Given the description of an element on the screen output the (x, y) to click on. 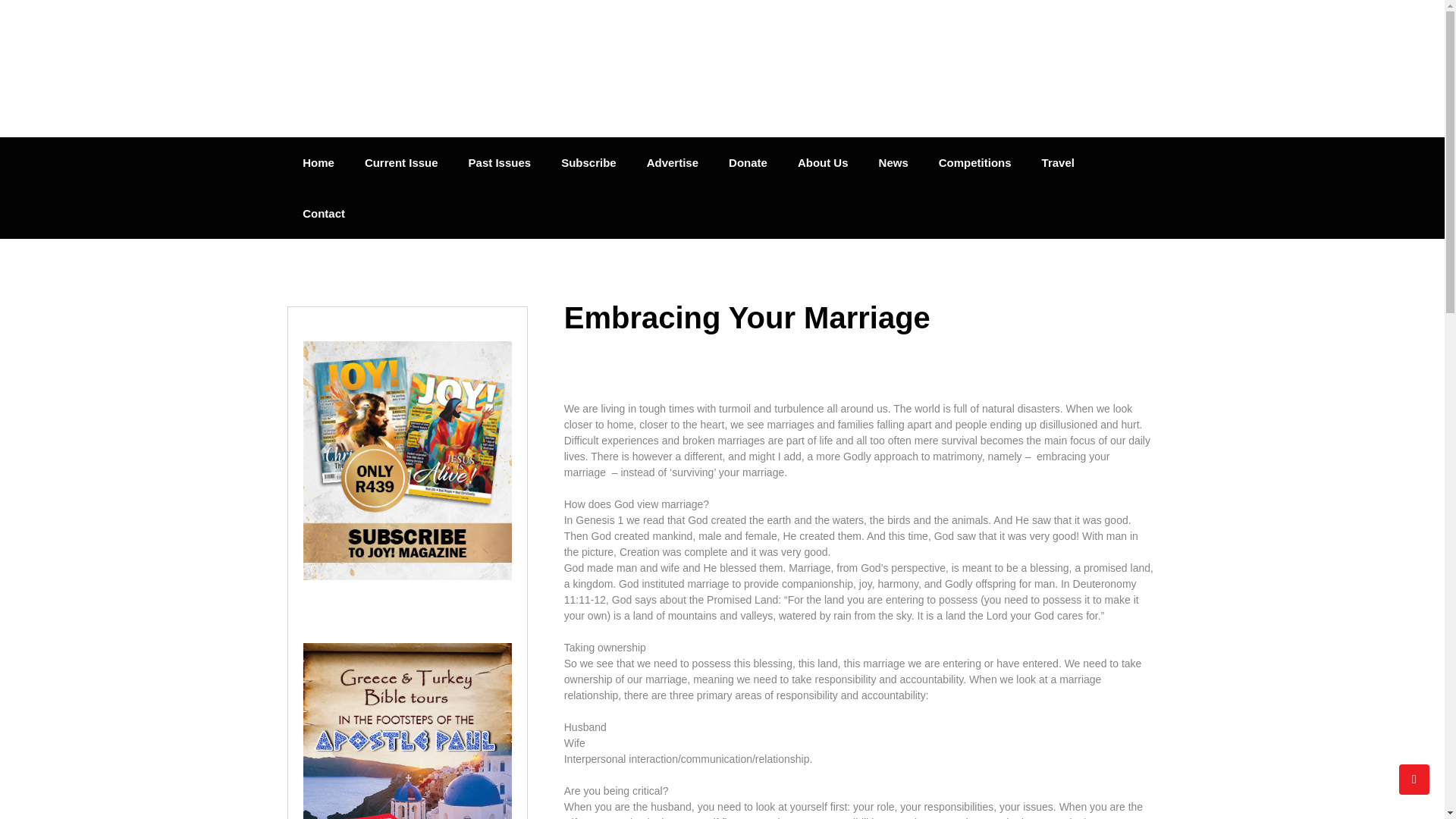
Past Issues (499, 162)
Competitions (974, 162)
Donate (748, 162)
Current Issue (400, 162)
Travel (1057, 162)
Contact (322, 213)
Subscribe (588, 162)
Advertise (672, 162)
About Us (823, 162)
Home (317, 162)
News (893, 162)
